Given the description of an element on the screen output the (x, y) to click on. 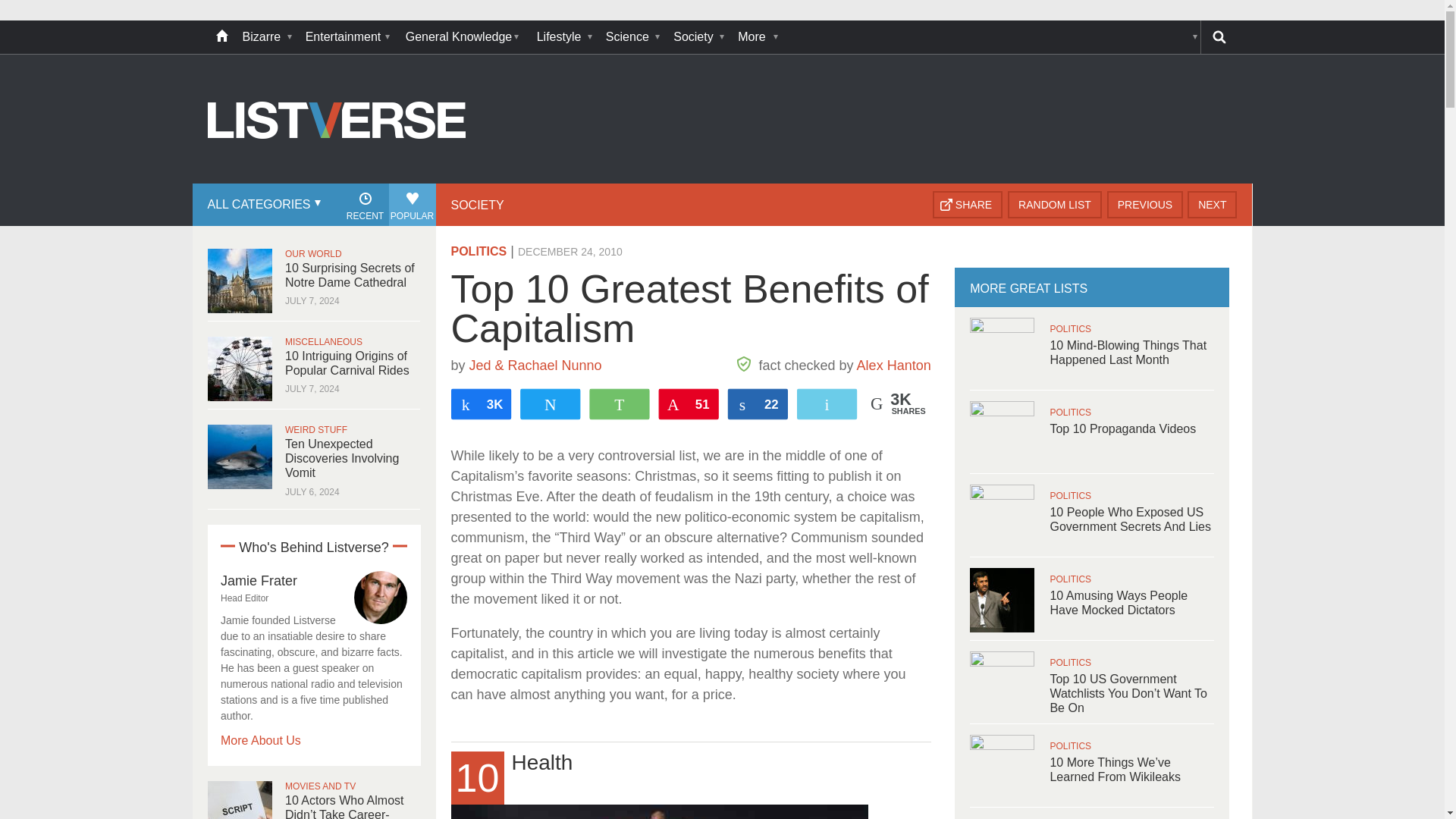
Go Home (221, 37)
Popular (411, 204)
All Categories (262, 204)
Bizarre (266, 37)
Lifestyle (563, 37)
Share (968, 204)
More (756, 37)
Science (631, 37)
General Knowledge (462, 37)
Entertainment (347, 37)
Recent (364, 204)
Go to Home (336, 181)
Society (697, 37)
